Given the description of an element on the screen output the (x, y) to click on. 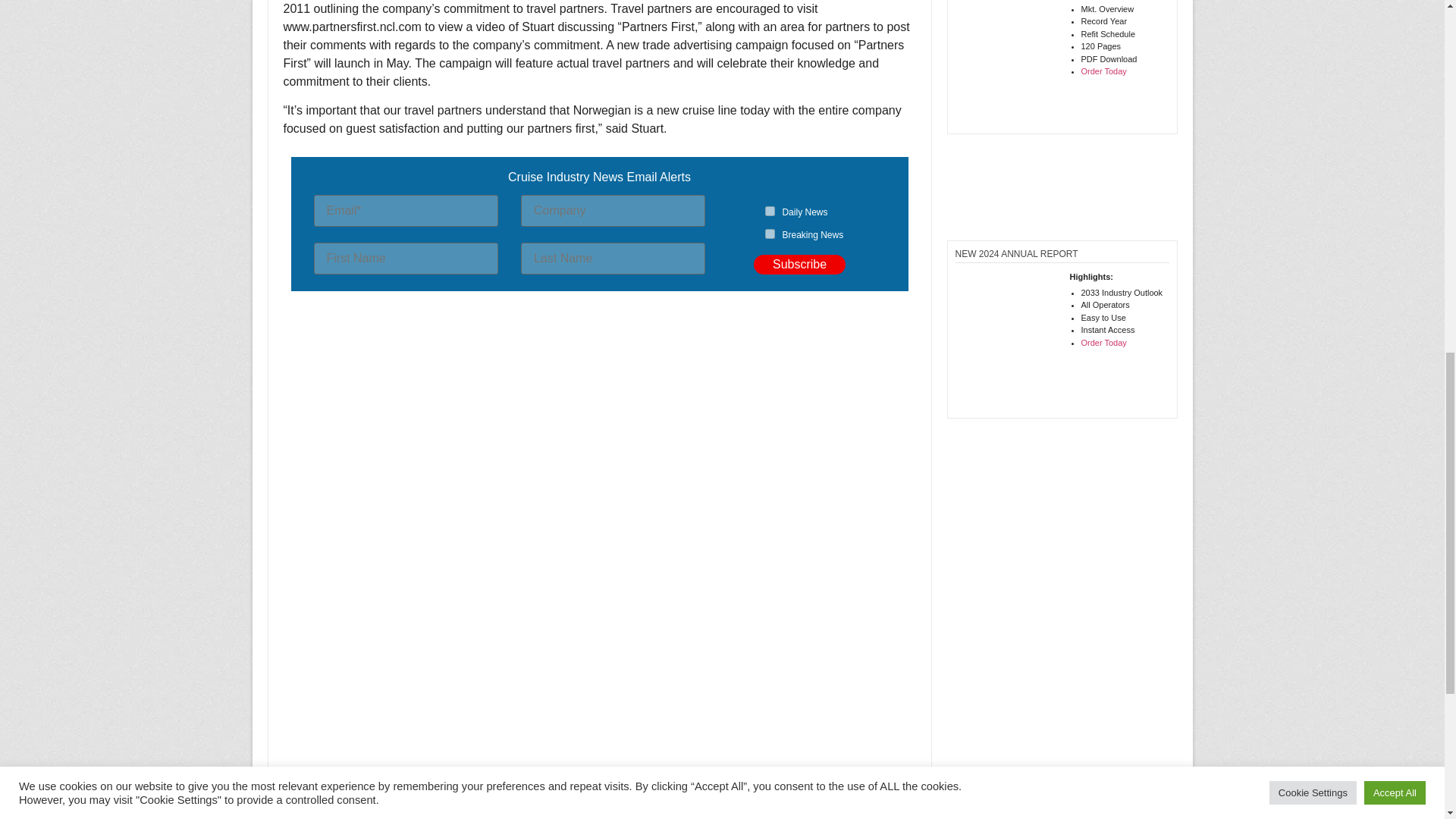
2 (769, 234)
1 (769, 211)
3rd party ad content (599, 354)
Subscribe (799, 264)
